Given the description of an element on the screen output the (x, y) to click on. 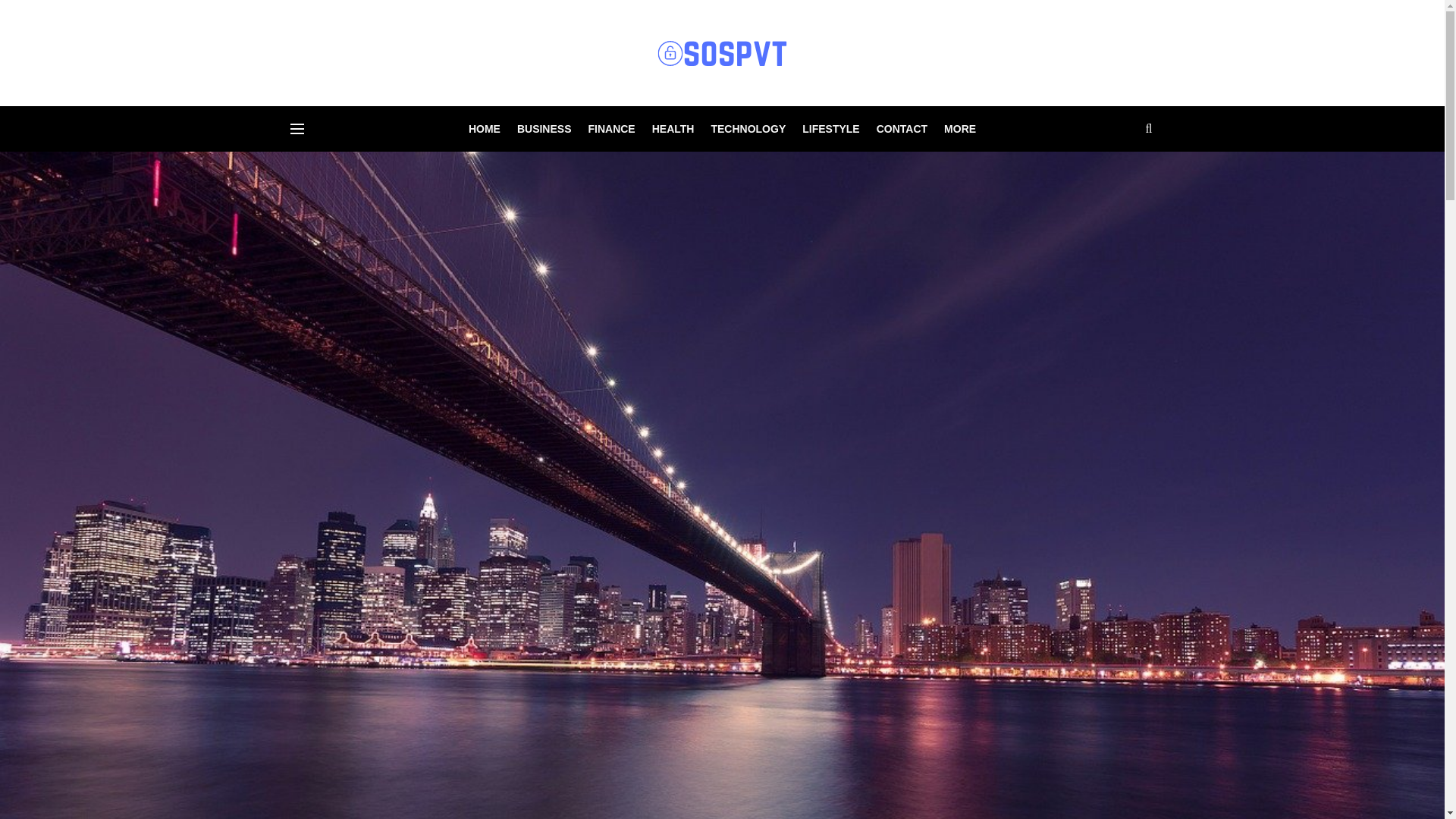
TECHNOLOGY (748, 128)
CONTACT (901, 128)
BUSINESS (544, 128)
LIFESTYLE (830, 128)
FINANCE (611, 128)
HEALTH (673, 128)
